Given the description of an element on the screen output the (x, y) to click on. 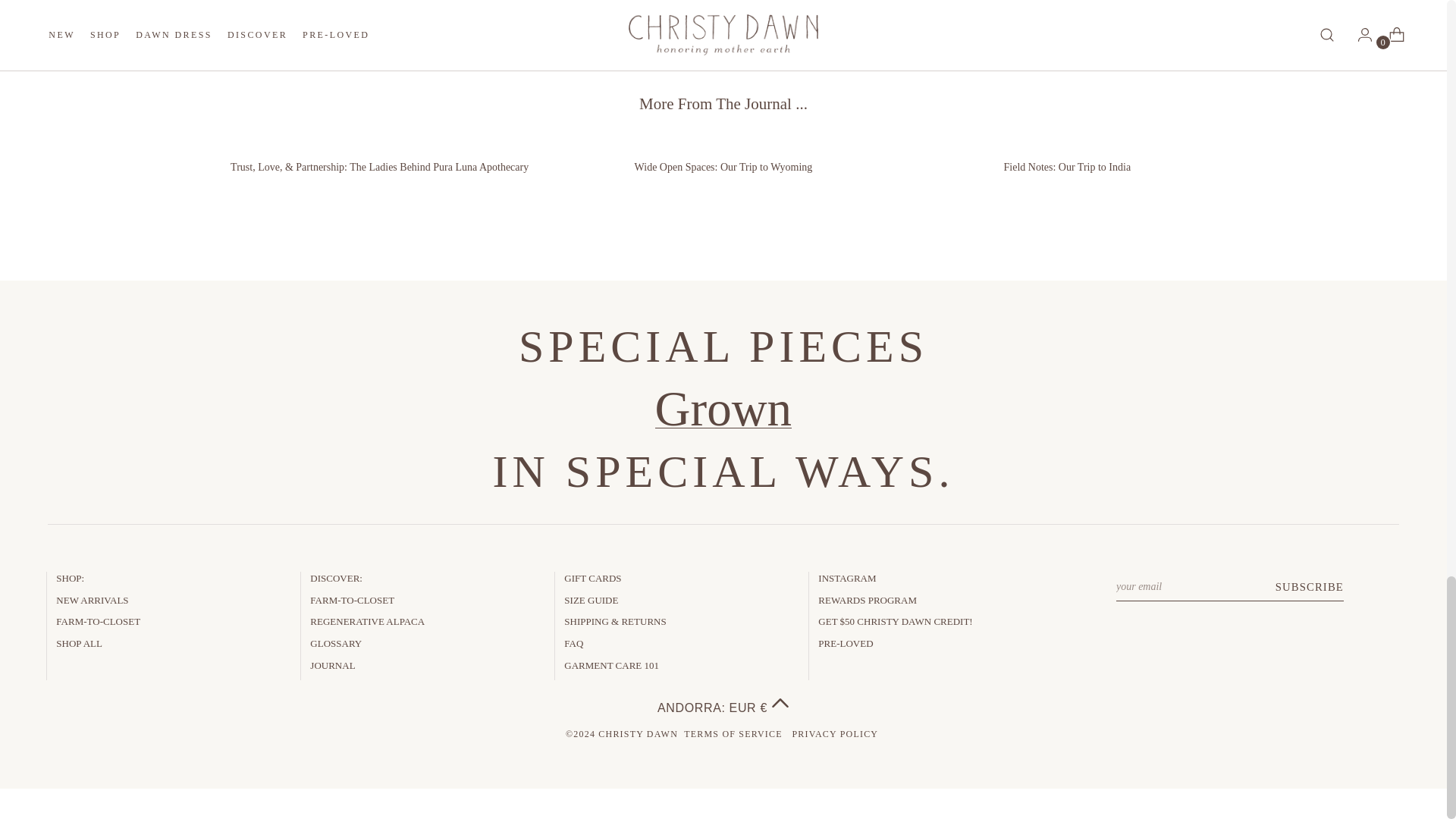
Wide Open Spaces: Our Trip to Wyoming (722, 156)
Field Notes: Our Trip to India (1067, 156)
